Given the description of an element on the screen output the (x, y) to click on. 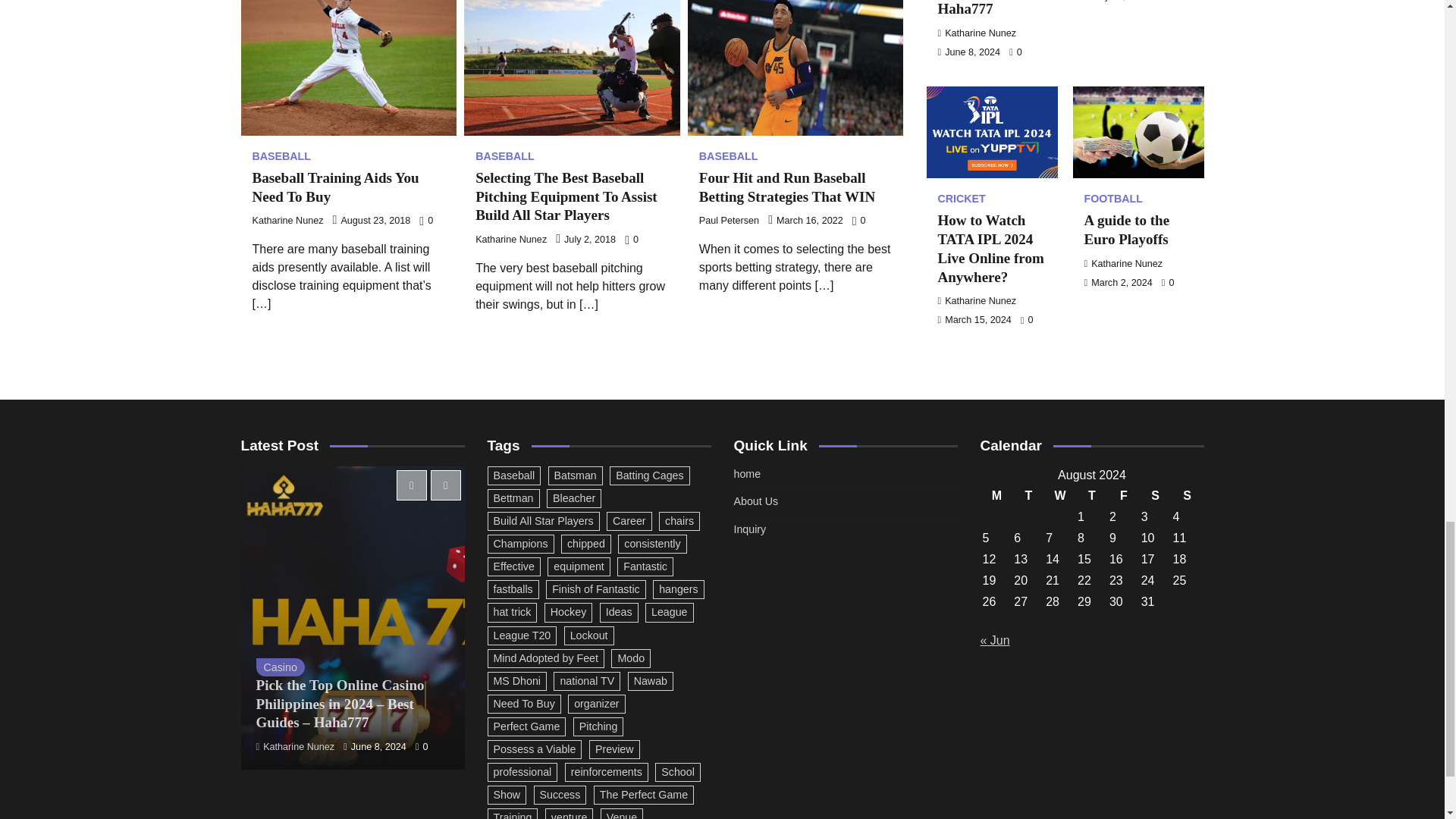
BASEBALL (281, 155)
Paul Petersen (728, 220)
BASEBALL (728, 155)
Thursday (1091, 496)
Tuesday (1028, 496)
Katharine Nunez (511, 239)
Wednesday (1060, 496)
BASEBALL (505, 155)
Sunday (1187, 496)
